Given the description of an element on the screen output the (x, y) to click on. 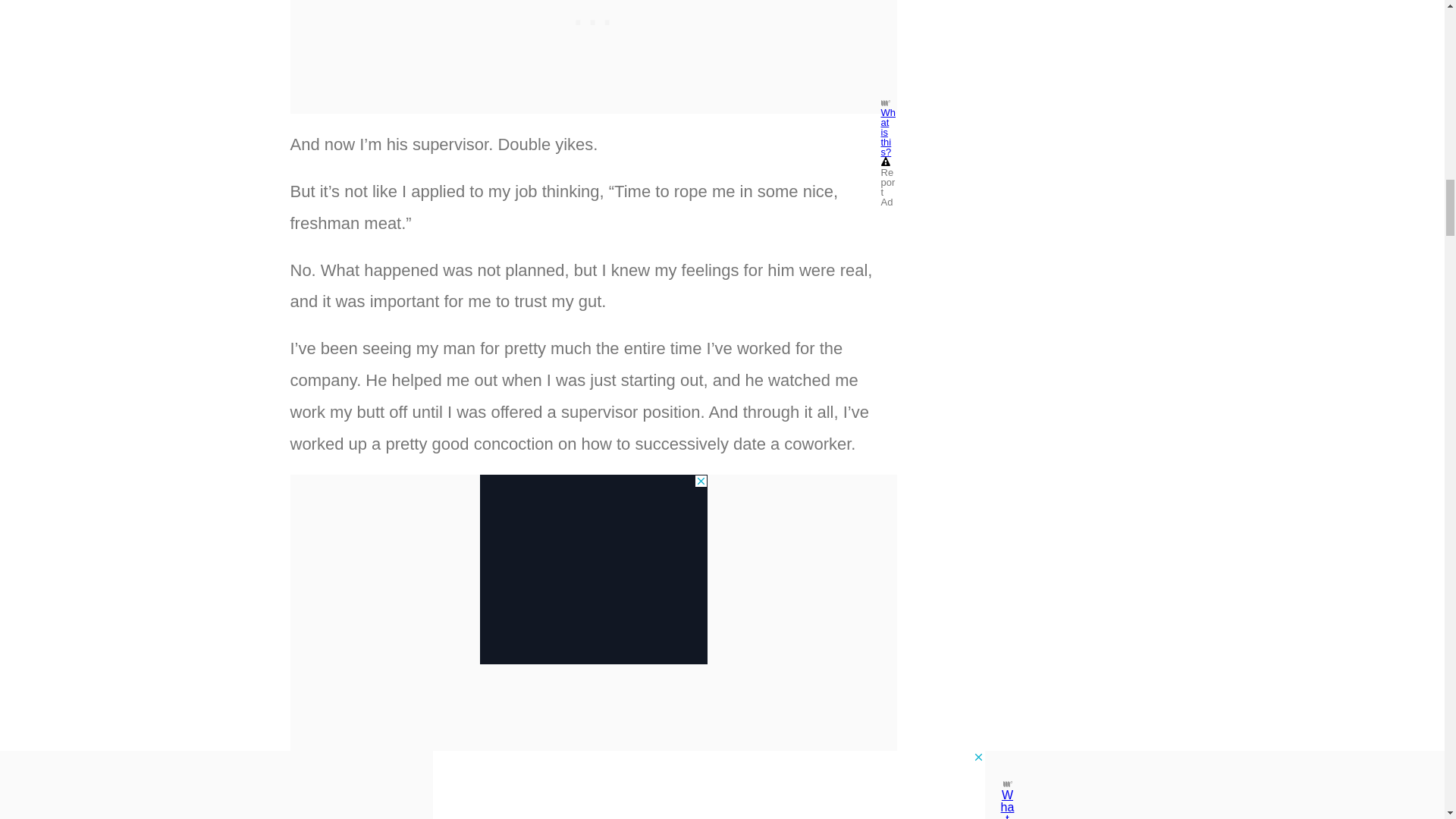
3rd party ad content (592, 569)
